Given the description of an element on the screen output the (x, y) to click on. 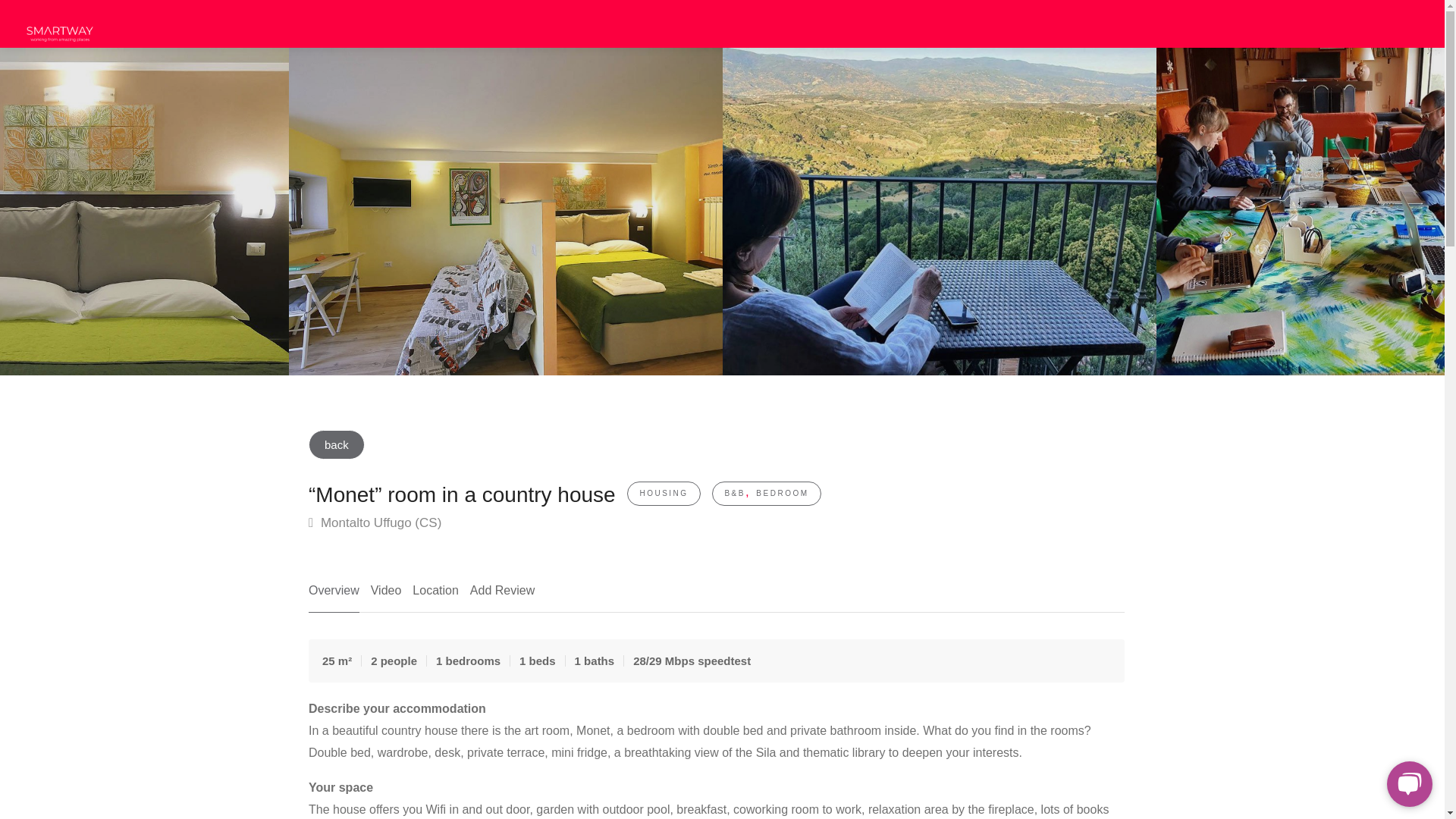
Add Review (502, 595)
back (336, 444)
BEDROOM (781, 492)
Location (435, 595)
Smartway Solutions (59, 27)
Video (386, 595)
HOUSING (663, 492)
Overview (333, 595)
